Given the description of an element on the screen output the (x, y) to click on. 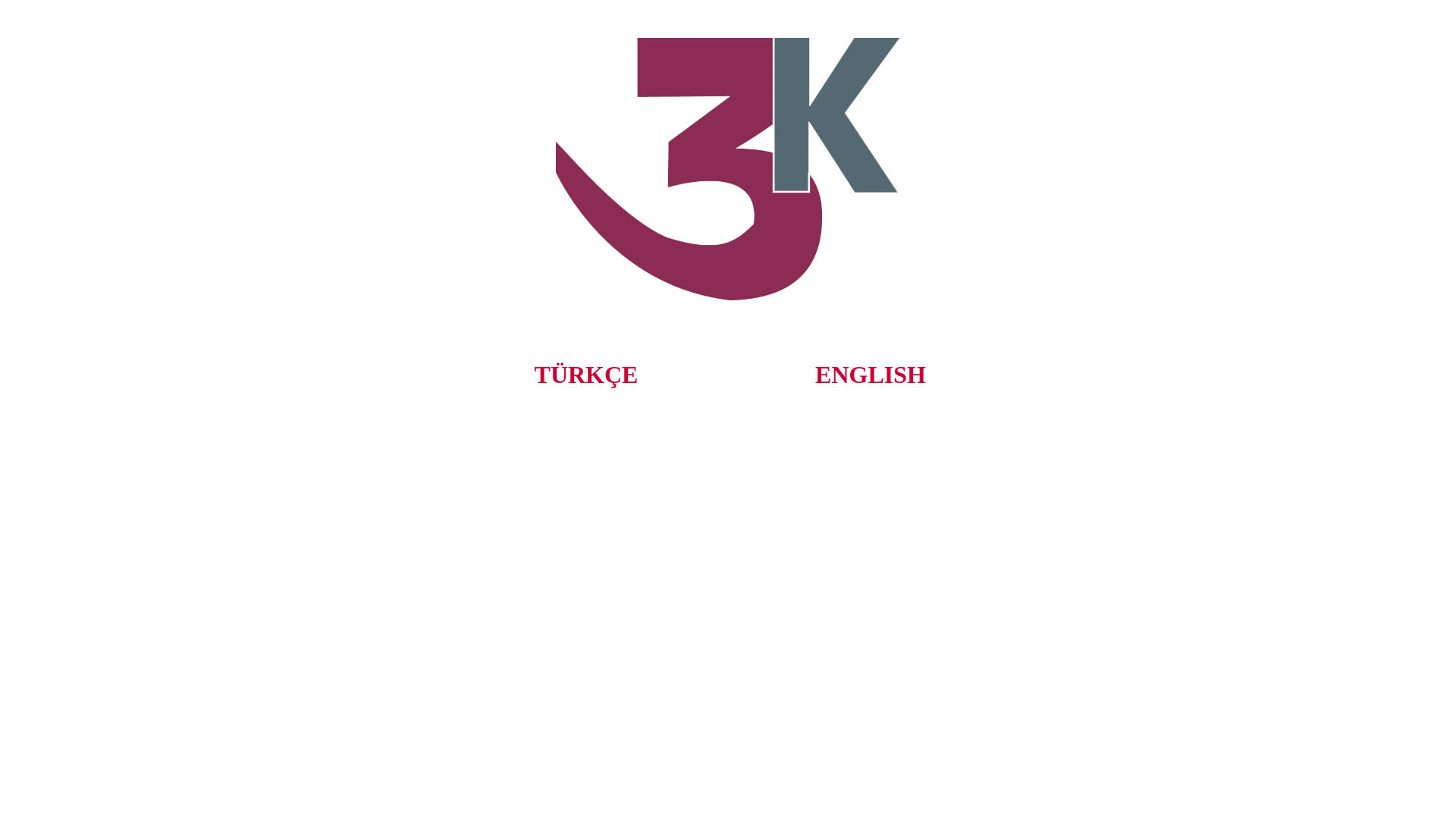
ENGLISH Element type: text (870, 374)
